Given the description of an element on the screen output the (x, y) to click on. 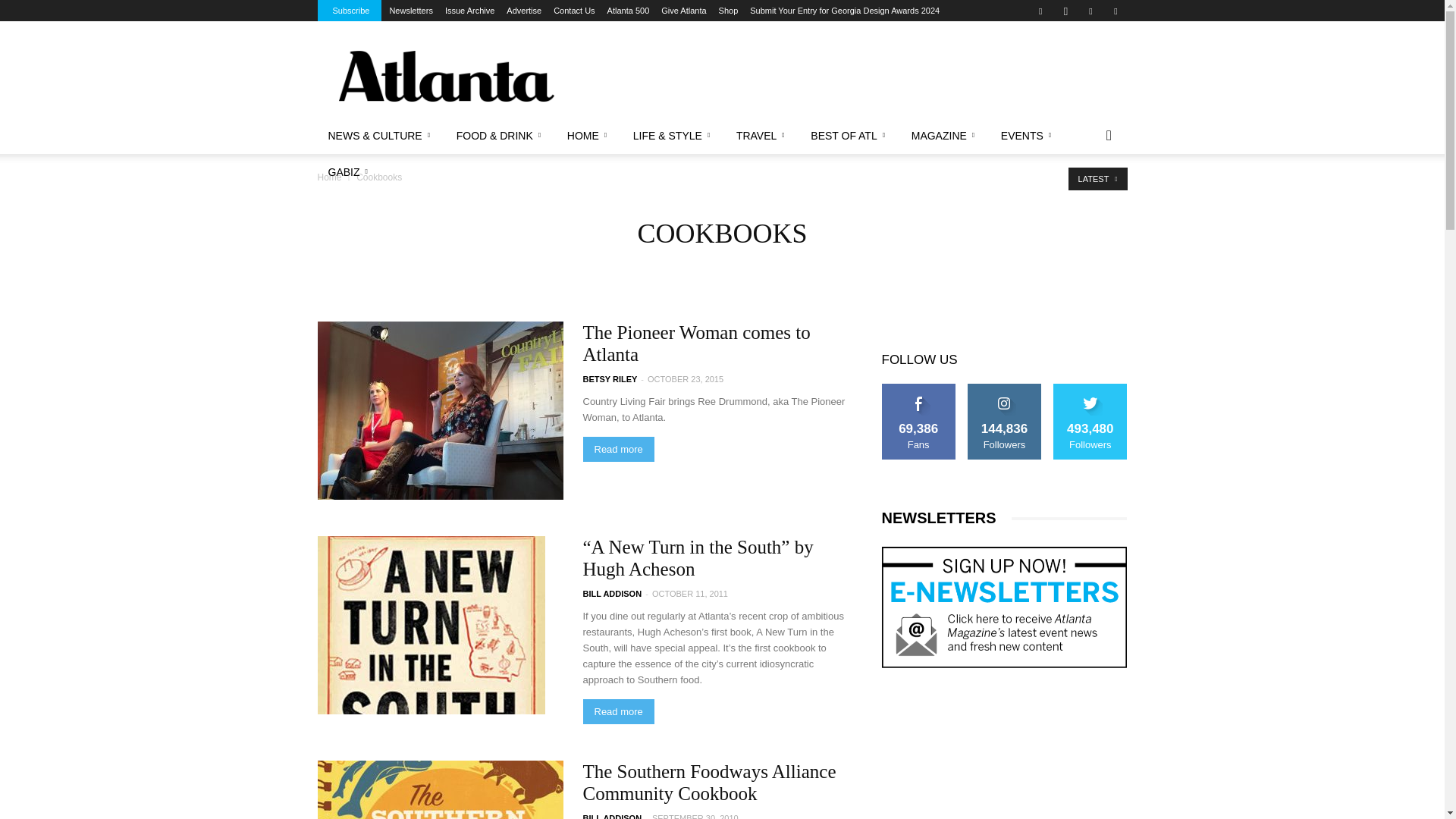
Facebook (1040, 10)
Instagram (1065, 10)
Advertisement (850, 76)
Twitter (1114, 10)
Atlanta Magazine (445, 75)
Linkedin (1090, 10)
